Given the description of an element on the screen output the (x, y) to click on. 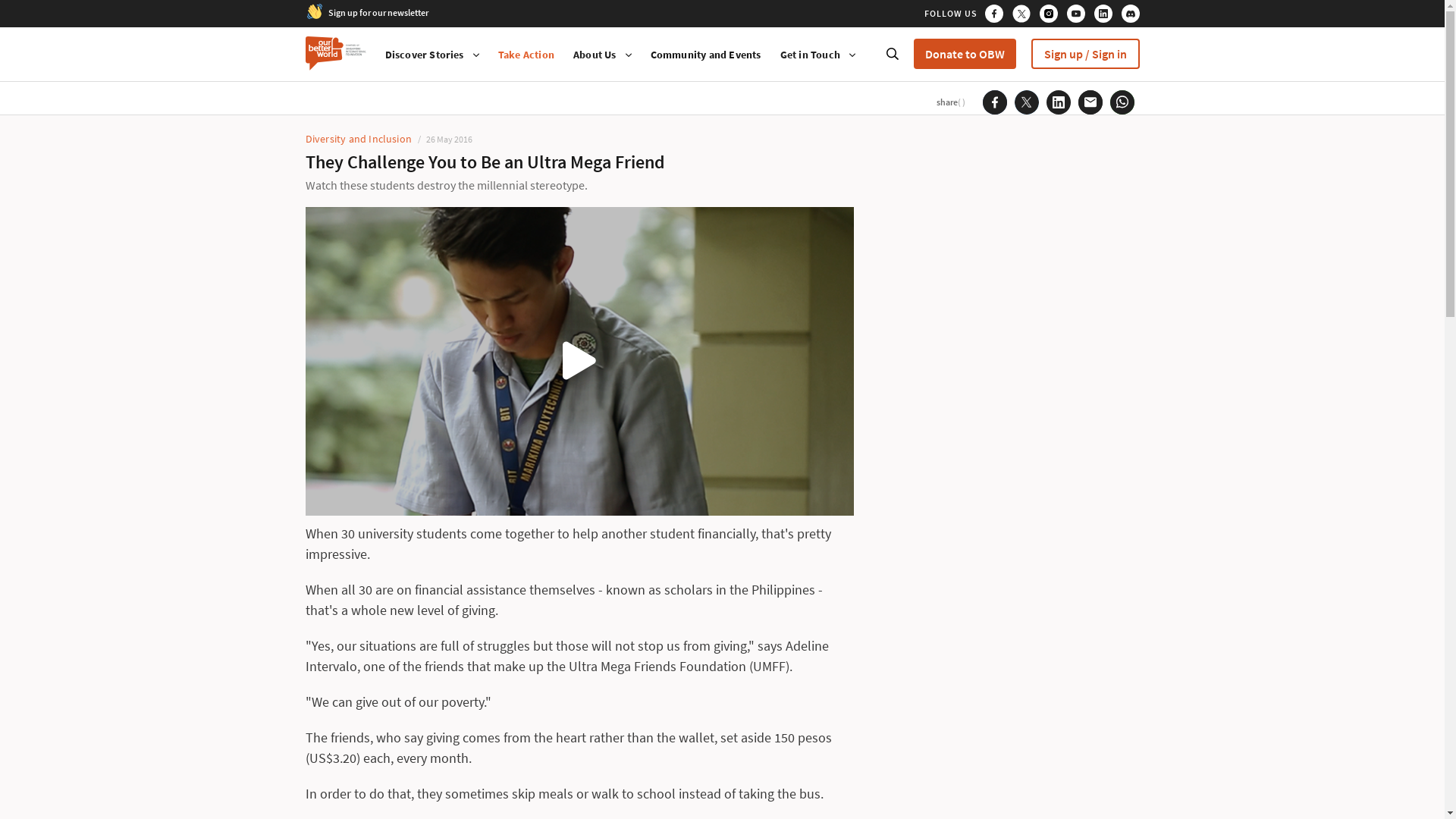
Sign up for our newsletter (377, 11)
Discover stories (810, 54)
Community and events (705, 54)
Take action (525, 54)
Discover stories (424, 54)
Discover Stories (424, 54)
Donate to OBW (963, 53)
Discover stories (594, 54)
